Given the description of an element on the screen output the (x, y) to click on. 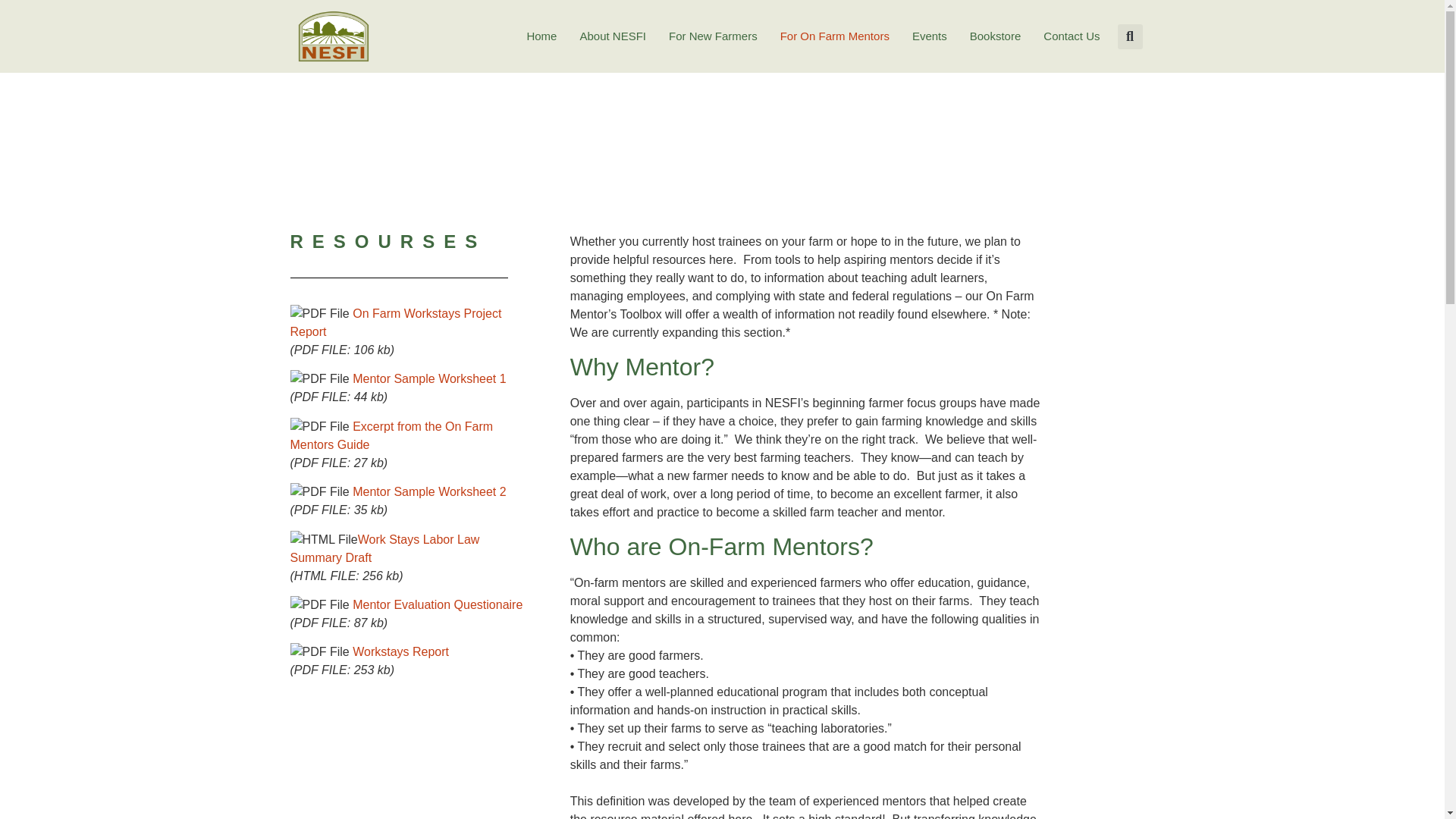
For On Farm Mentors (834, 36)
About NESFI (612, 36)
Bookstore (995, 36)
Contact Us (1071, 36)
For New Farmers (713, 36)
